Given the description of an element on the screen output the (x, y) to click on. 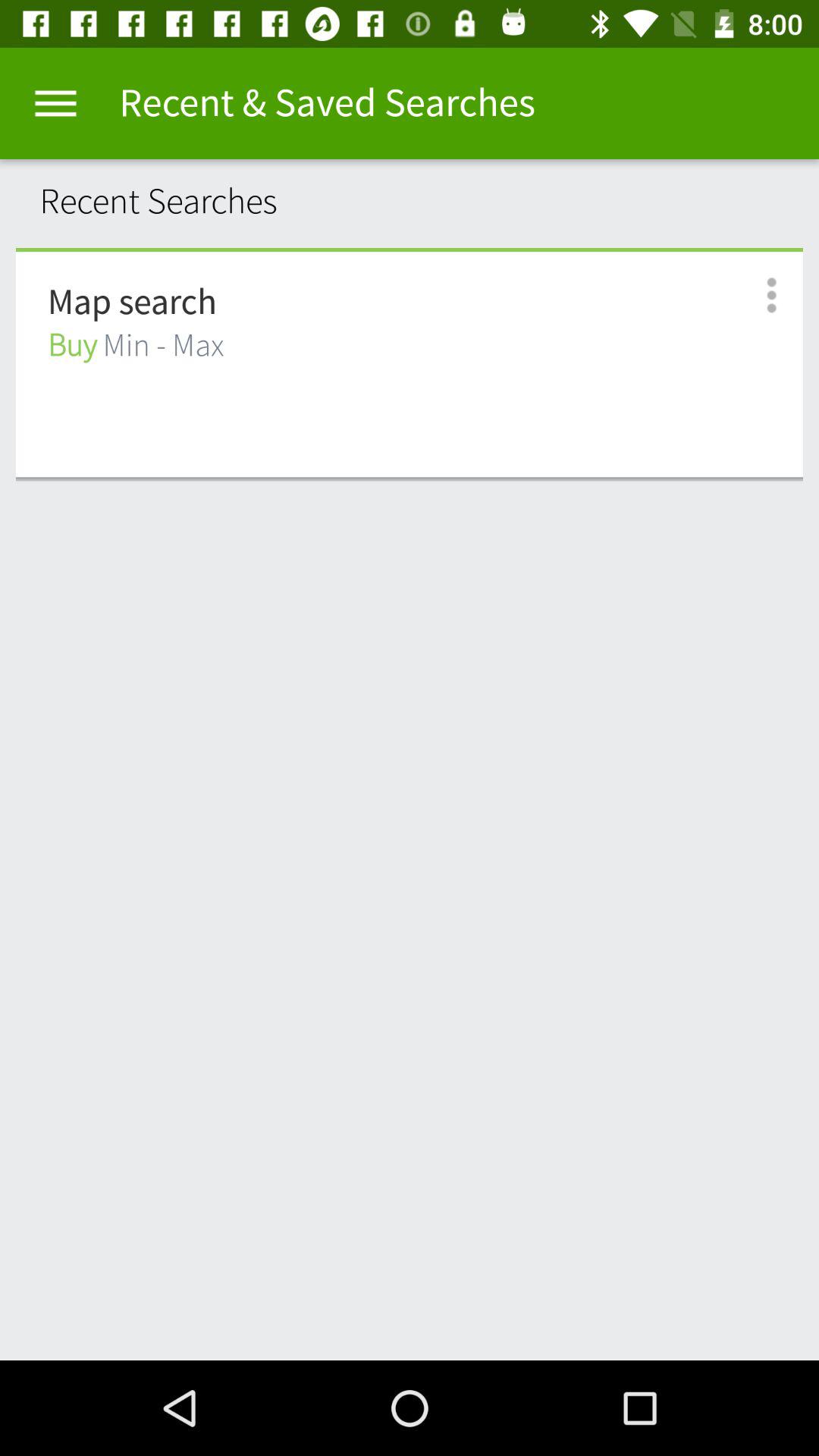
swipe until buy min - max item (135, 345)
